Given the description of an element on the screen output the (x, y) to click on. 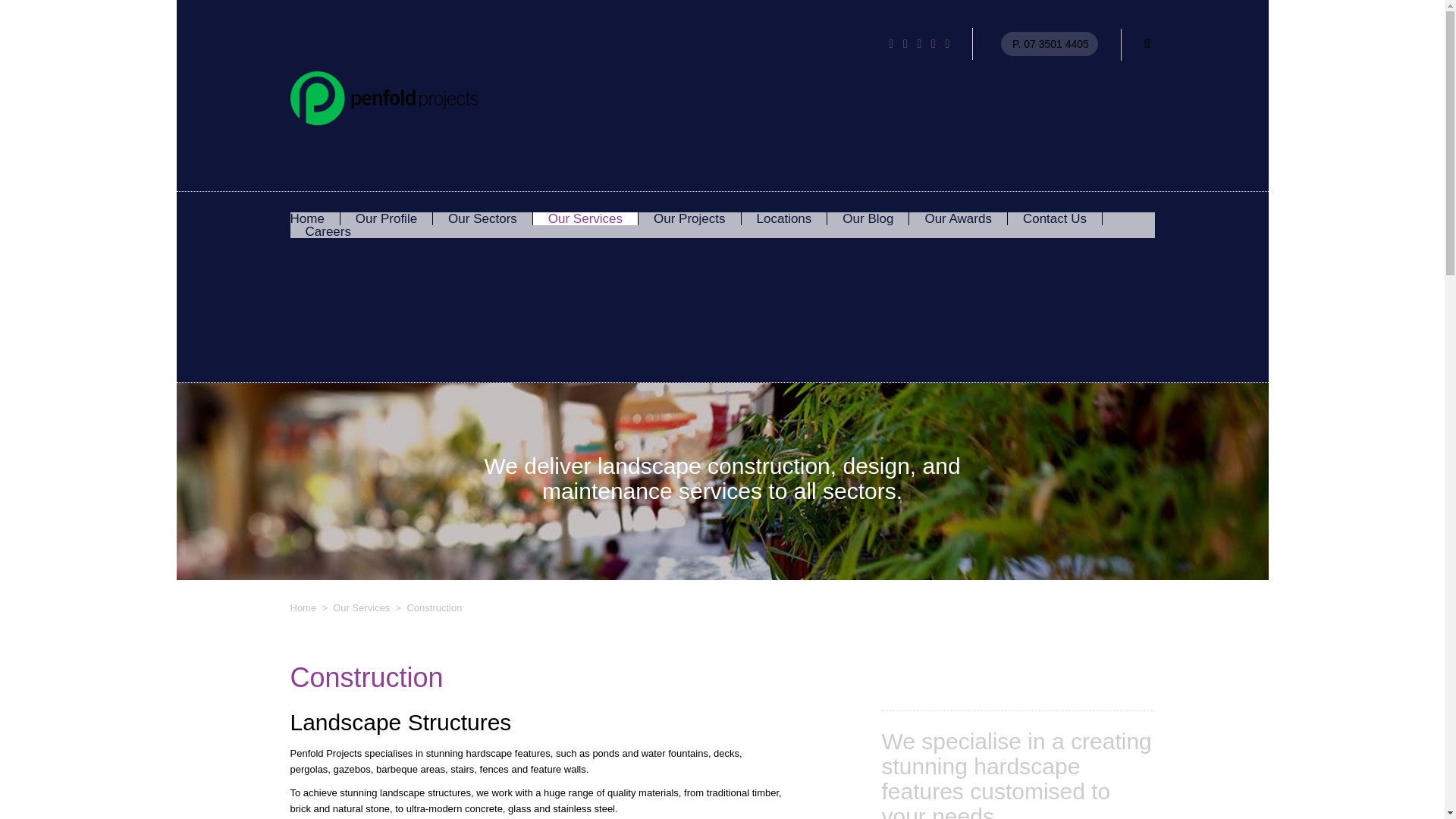
Home (302, 607)
Contact Us (1054, 218)
Our Sectors (482, 218)
07 3501 4405 (1056, 43)
Our Services (585, 218)
Our Projects (689, 218)
Our Blog (868, 218)
Our Awards (957, 218)
Our Profile (385, 218)
Locations (784, 218)
Home (306, 218)
Penfold Projects (383, 94)
Careers (327, 231)
Our Services (361, 607)
